Given the description of an element on the screen output the (x, y) to click on. 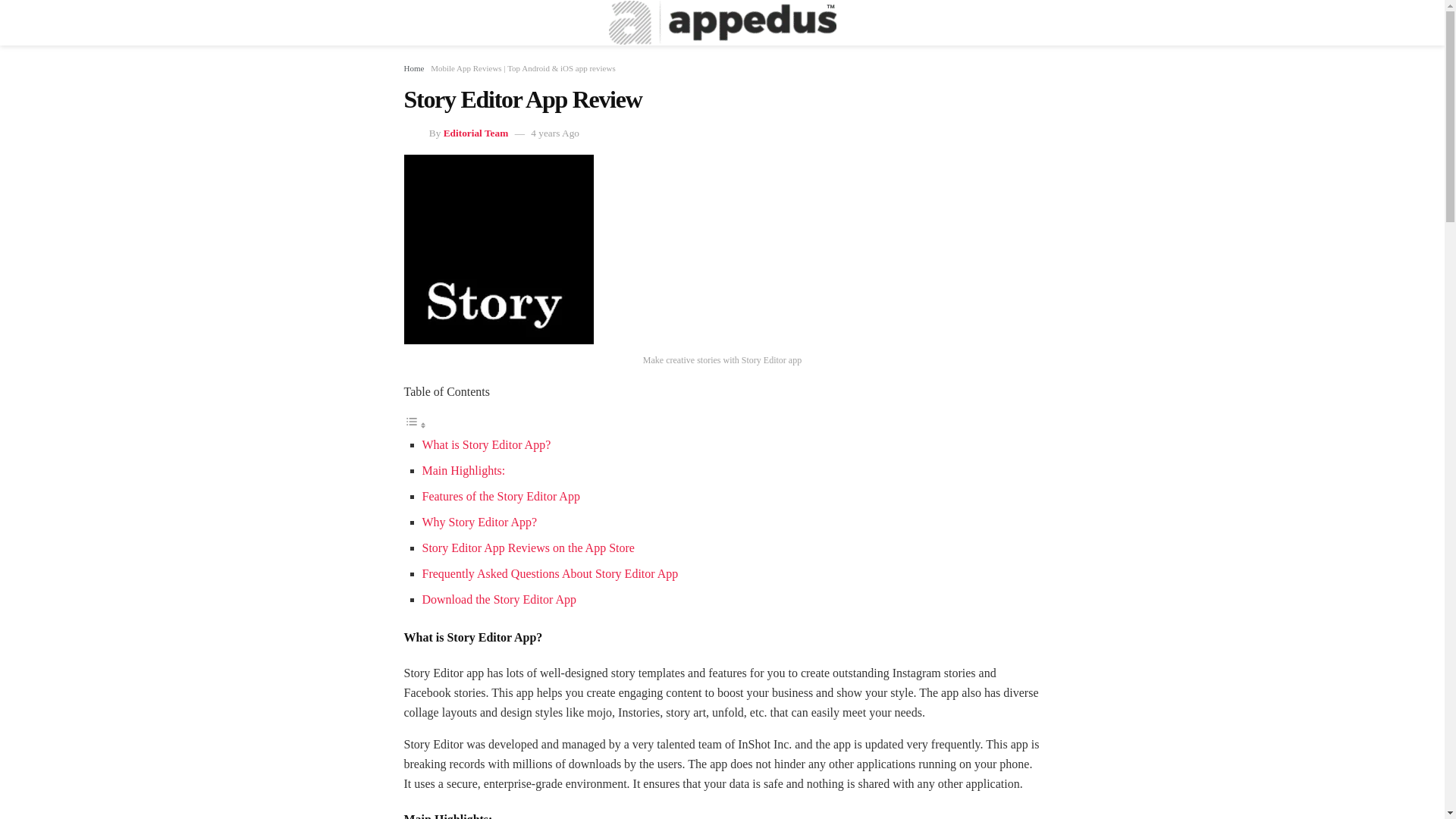
Features of the Story Editor App (500, 495)
Home (413, 67)
Frequently Asked Questions About Story Editor App (550, 573)
Why Story Editor App? (479, 521)
What is Story Editor App? (486, 444)
Why Story Editor App? (479, 521)
What is Story Editor App? (486, 444)
Download the Story Editor App (499, 599)
Main Highlights: (463, 470)
Features of the Story Editor App (500, 495)
Story Editor App Reviews on the App Store (527, 547)
Frequently Asked Questions About Story Editor App (550, 573)
Main Highlights: (463, 470)
Story Editor App Reviews on the App Store (527, 547)
Download the Story Editor App (499, 599)
